Given the description of an element on the screen output the (x, y) to click on. 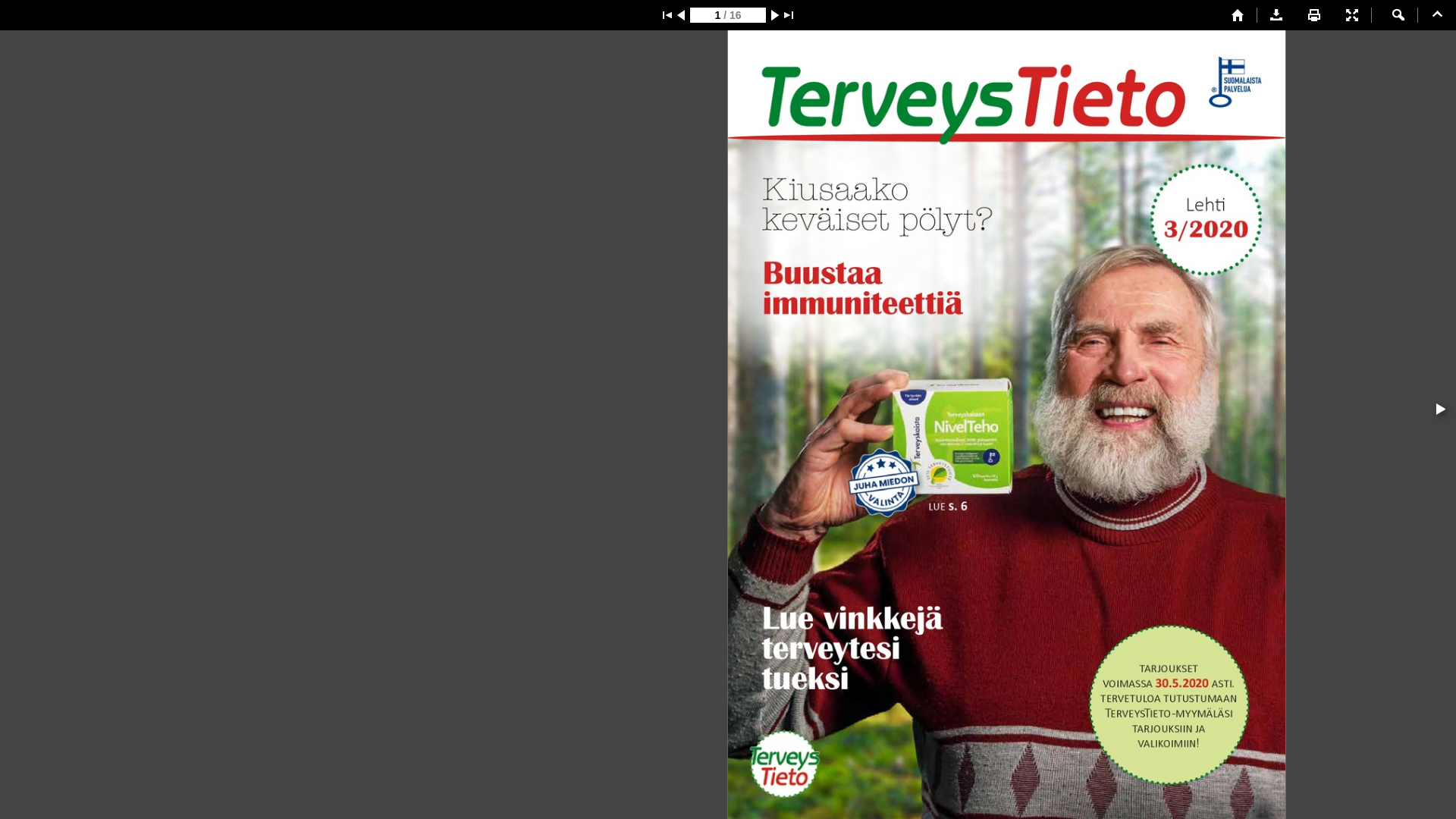
Hide Element type: hover (1436, 15)
Print Element type: hover (1314, 15)
First page Element type: hover (1237, 15)
Text search Element type: hover (1398, 15)
Show fullscreen Element type: hover (1351, 15)
Download publication PDF Element type: hover (1276, 15)
